Given the description of an element on the screen output the (x, y) to click on. 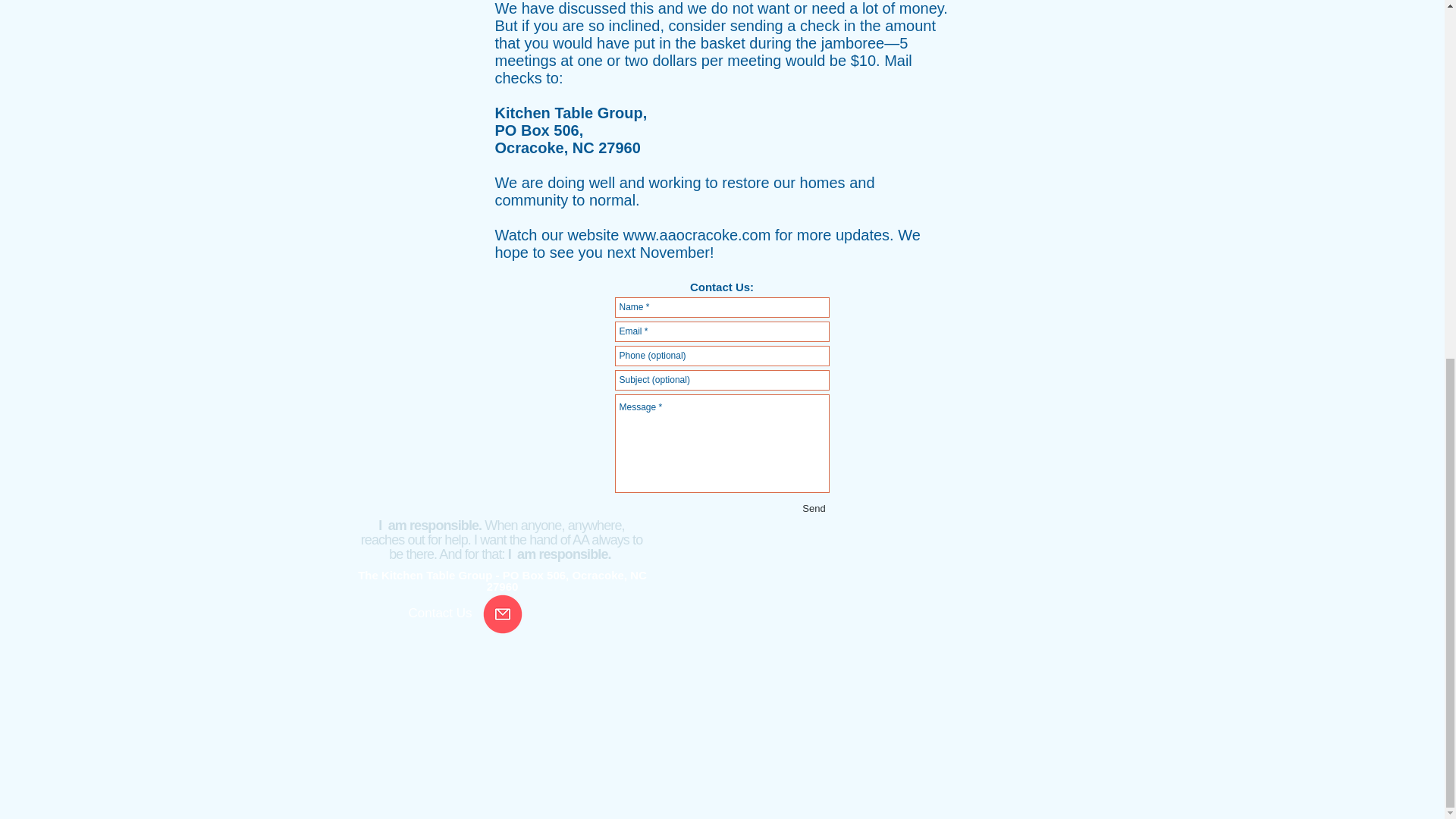
www.aaocracoke.com (697, 234)
Send (814, 508)
